Given the description of an element on the screen output the (x, y) to click on. 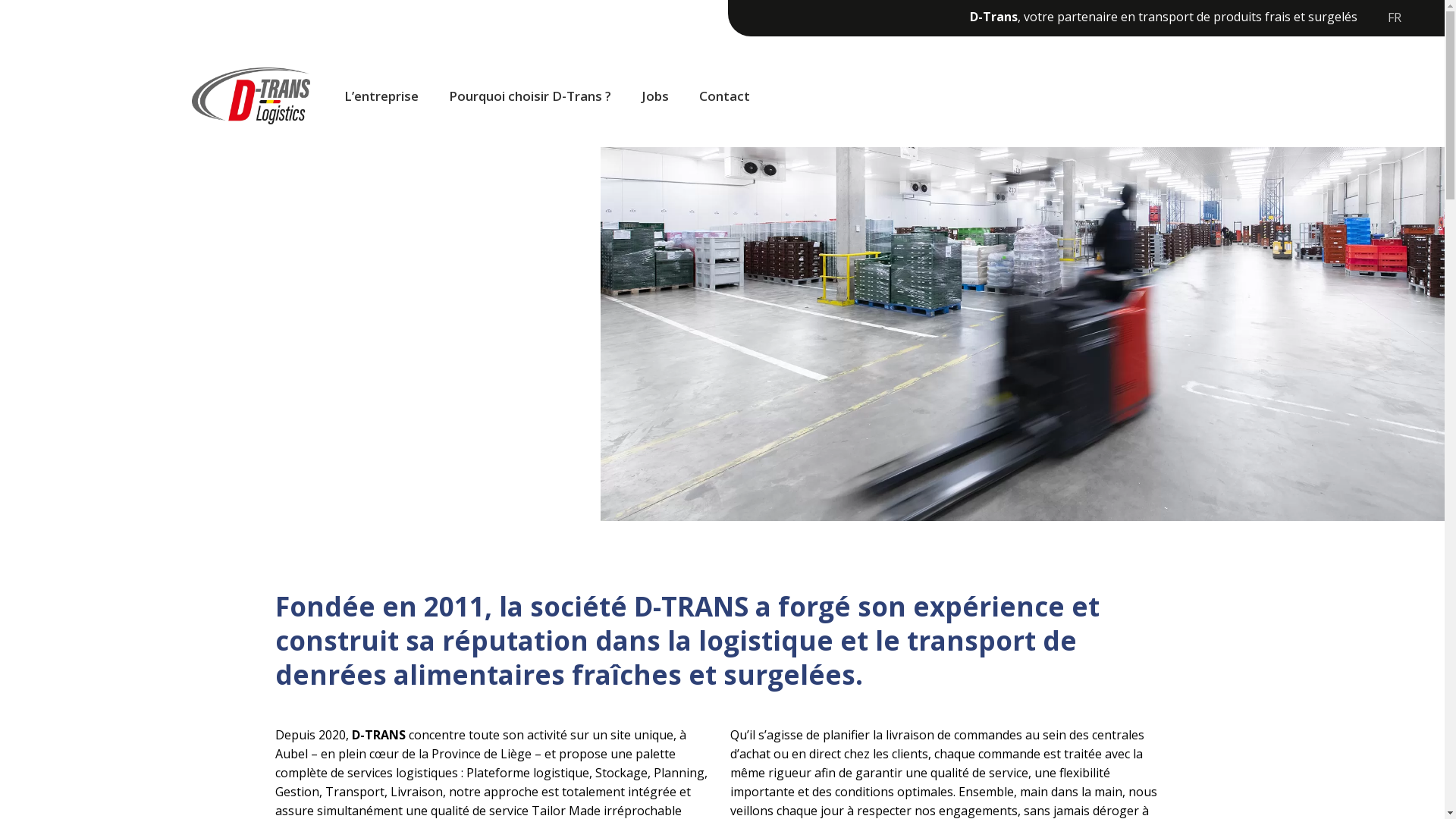
Jobs Element type: text (655, 95)
Pourquoi choisir D-Trans ? Element type: text (529, 95)
Contact Element type: text (724, 95)
